Given the description of an element on the screen output the (x, y) to click on. 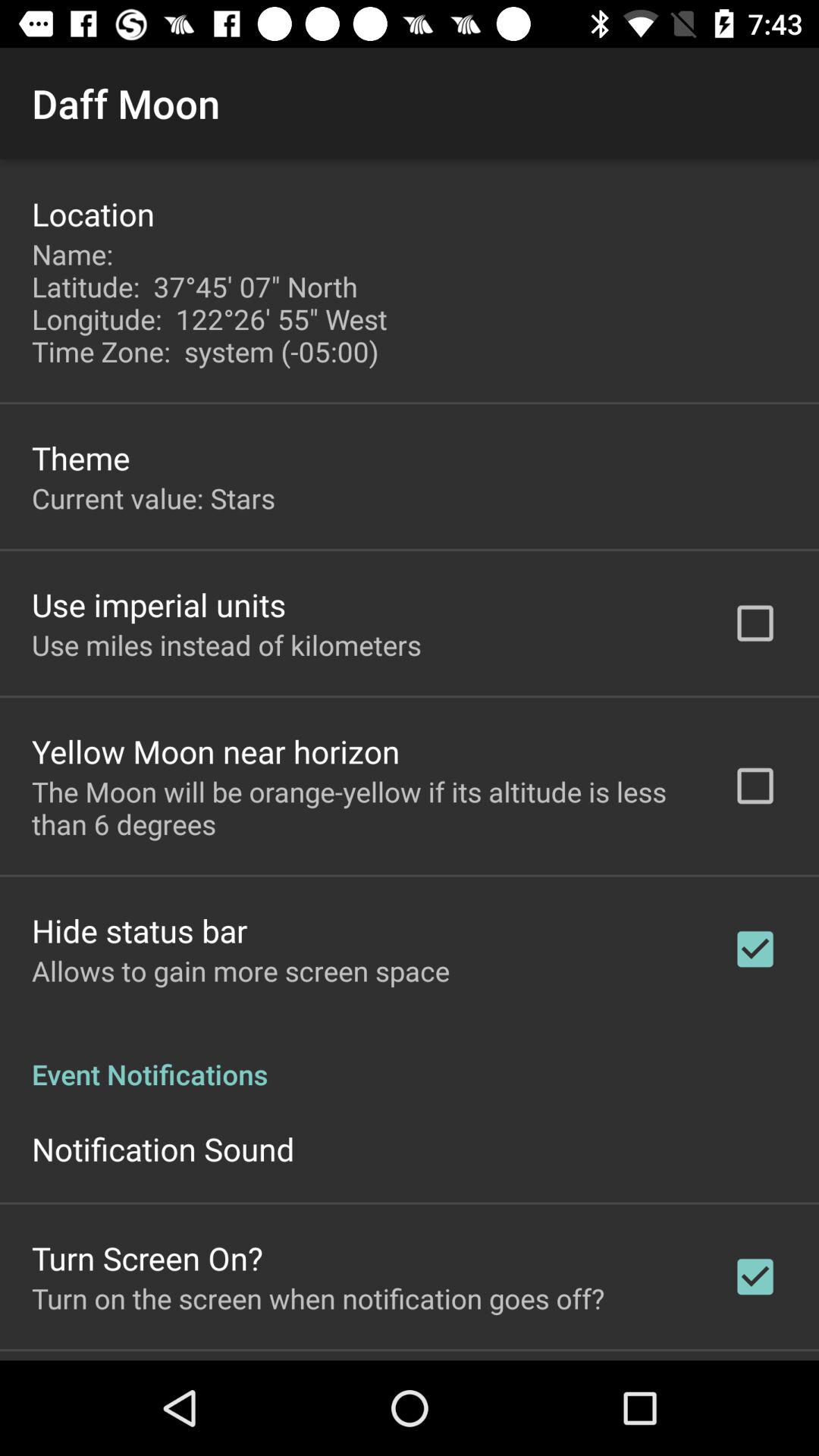
jump to the allows to gain (240, 970)
